Given the description of an element on the screen output the (x, y) to click on. 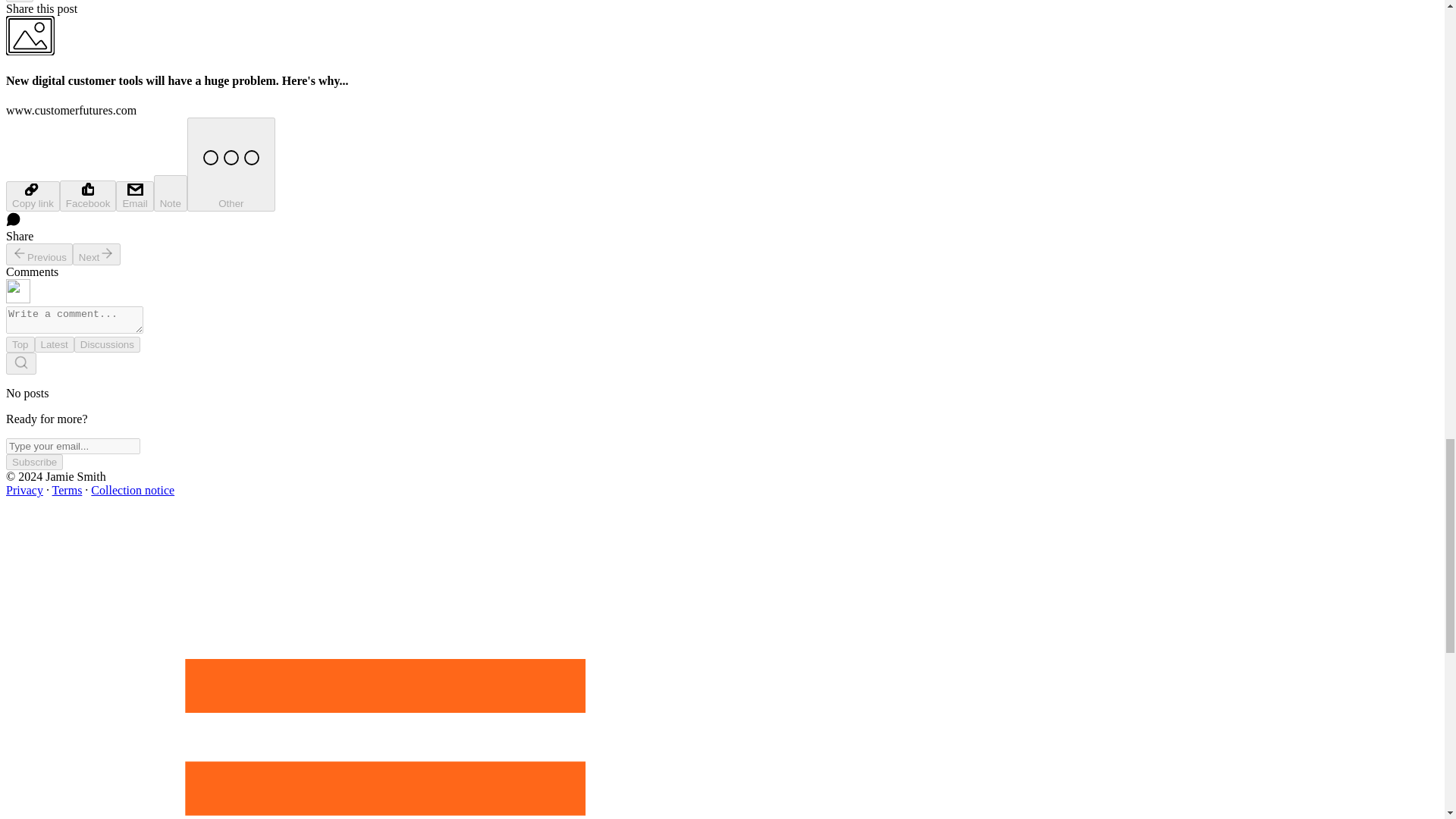
Facebook (87, 195)
Previous (38, 254)
Email (134, 195)
Copy link (32, 195)
Note (170, 193)
Other (231, 164)
Next (96, 254)
